Given the description of an element on the screen output the (x, y) to click on. 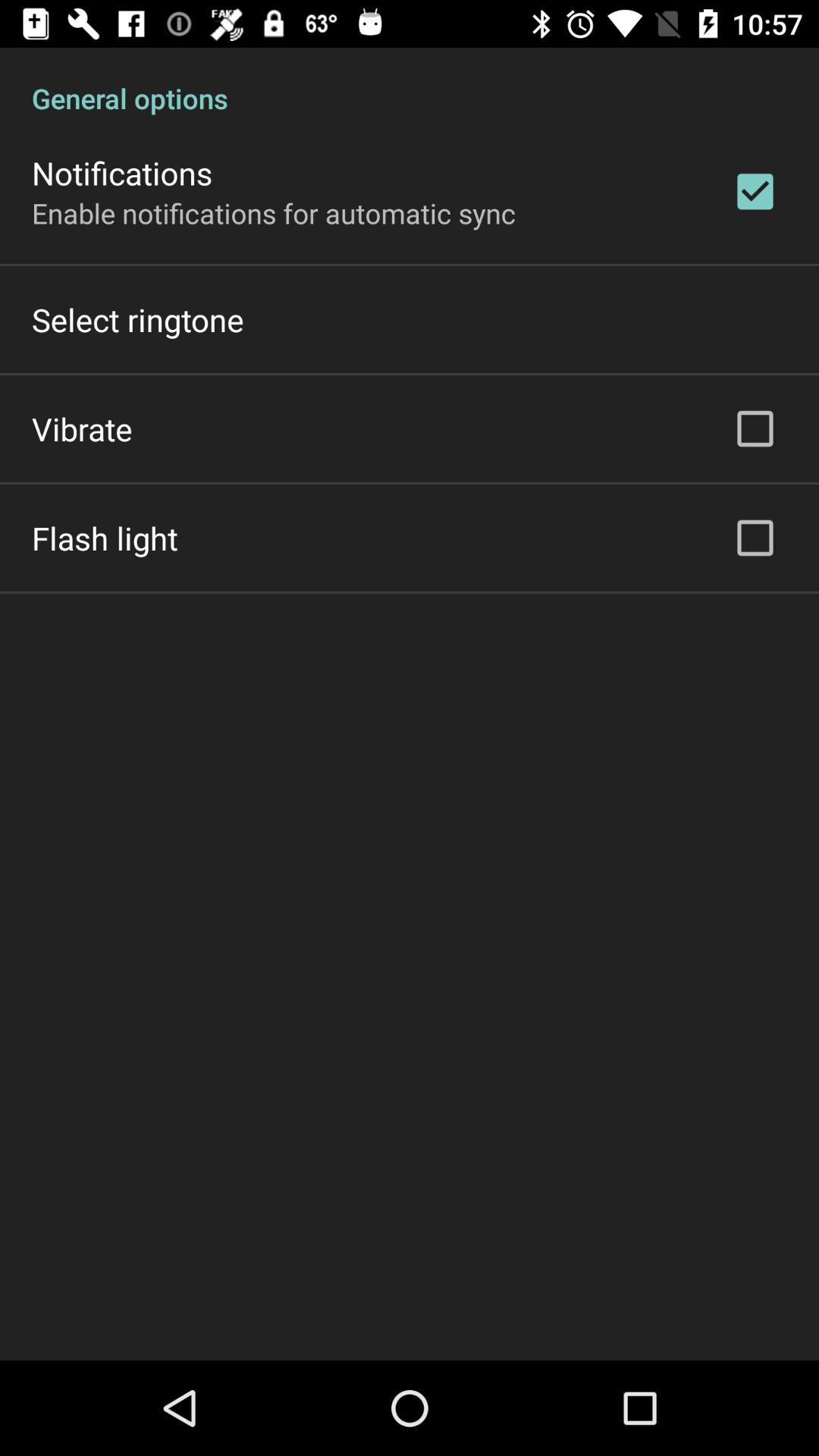
choose the icon below vibrate icon (104, 537)
